Given the description of an element on the screen output the (x, y) to click on. 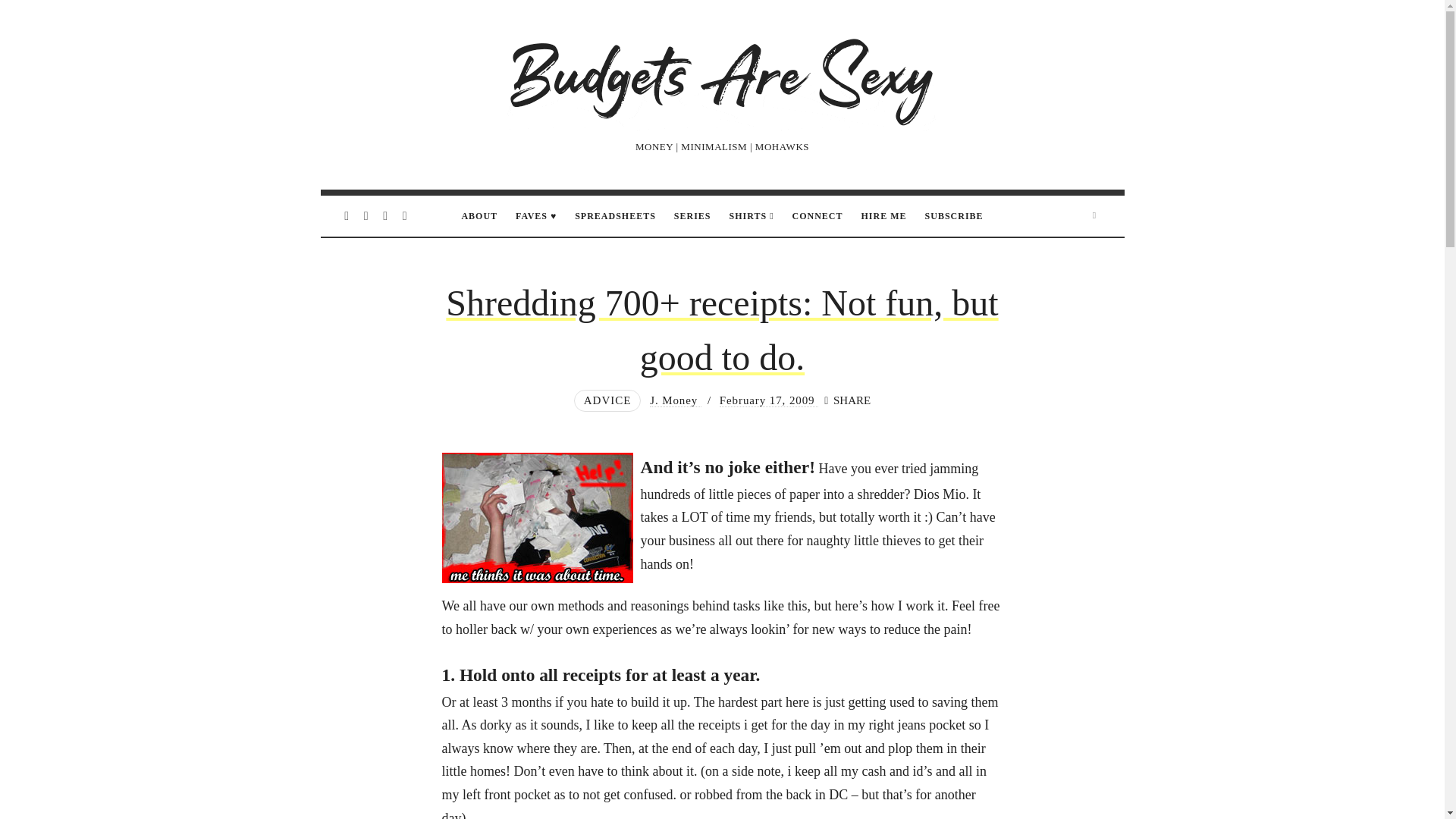
SERIES (692, 215)
Budgets Are Sexy (721, 79)
SPREADSHEETS (615, 215)
